Given the description of an element on the screen output the (x, y) to click on. 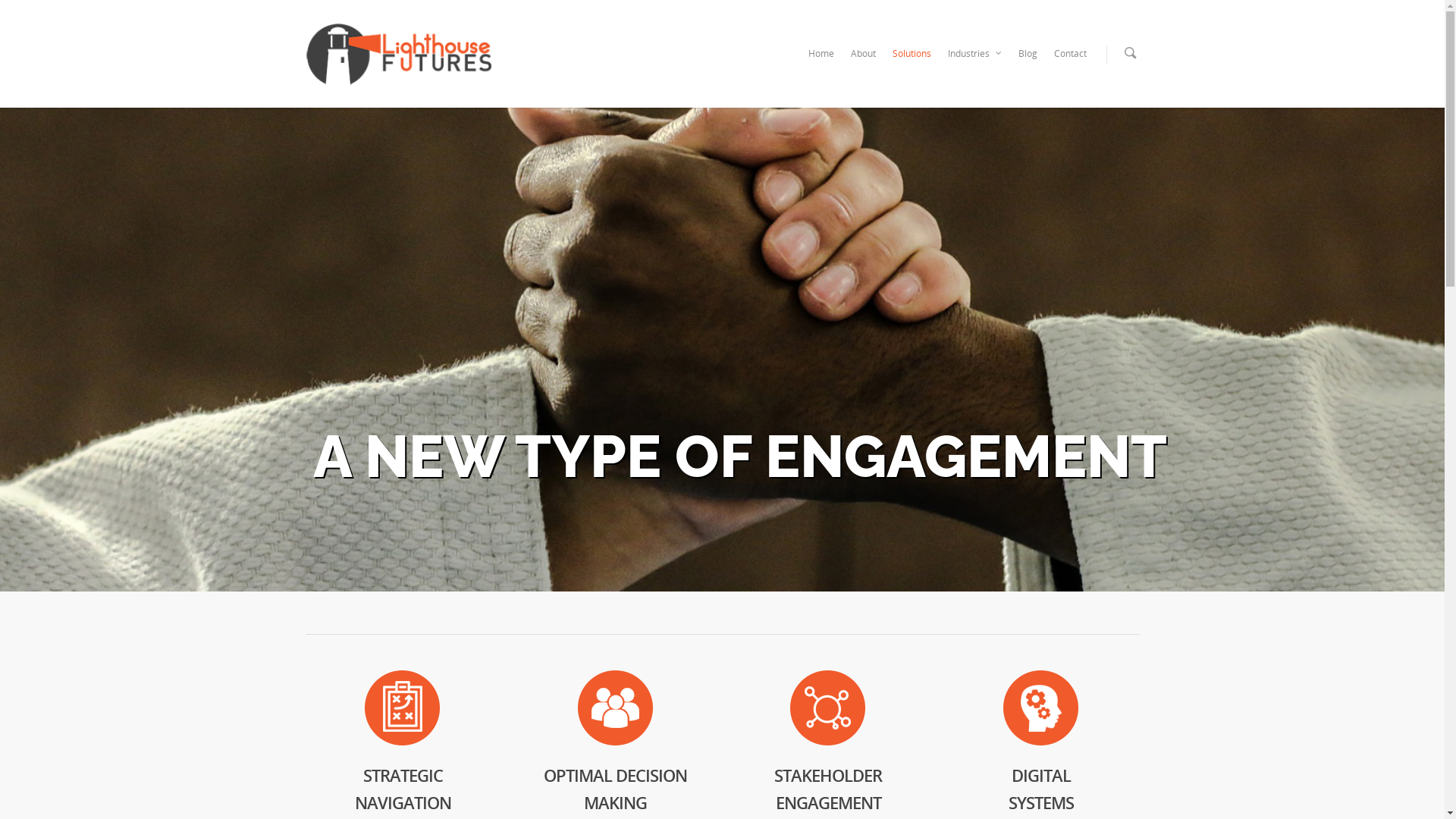
About Element type: text (863, 64)
Blog Element type: text (1027, 64)
Solutions Element type: text (911, 64)
Industries Element type: text (974, 64)
Home Element type: text (820, 64)
Contact Element type: text (1070, 64)
